Given the description of an element on the screen output the (x, y) to click on. 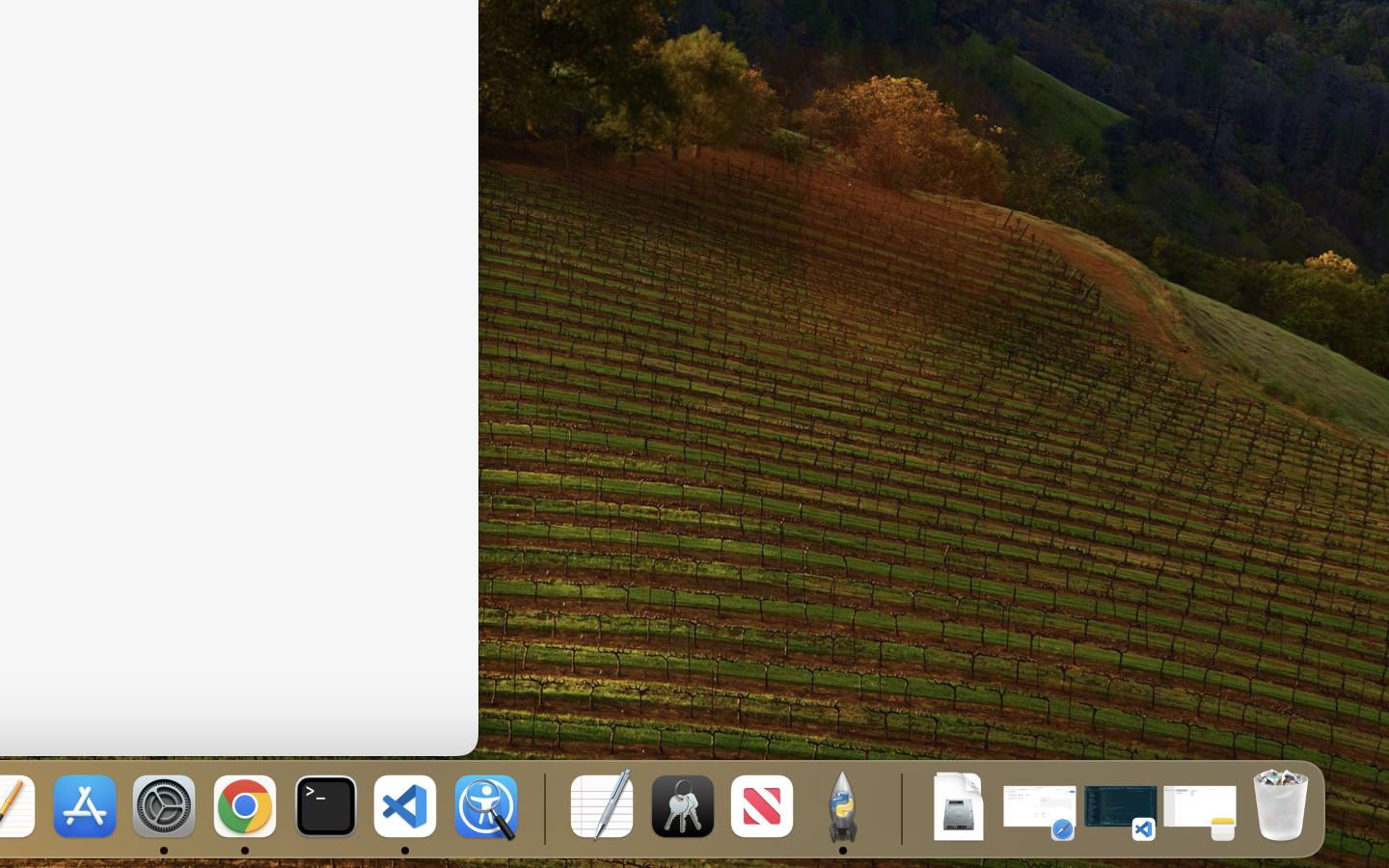
0.4285714328289032 Element type: AXDockItem (541, 807)
